Given the description of an element on the screen output the (x, y) to click on. 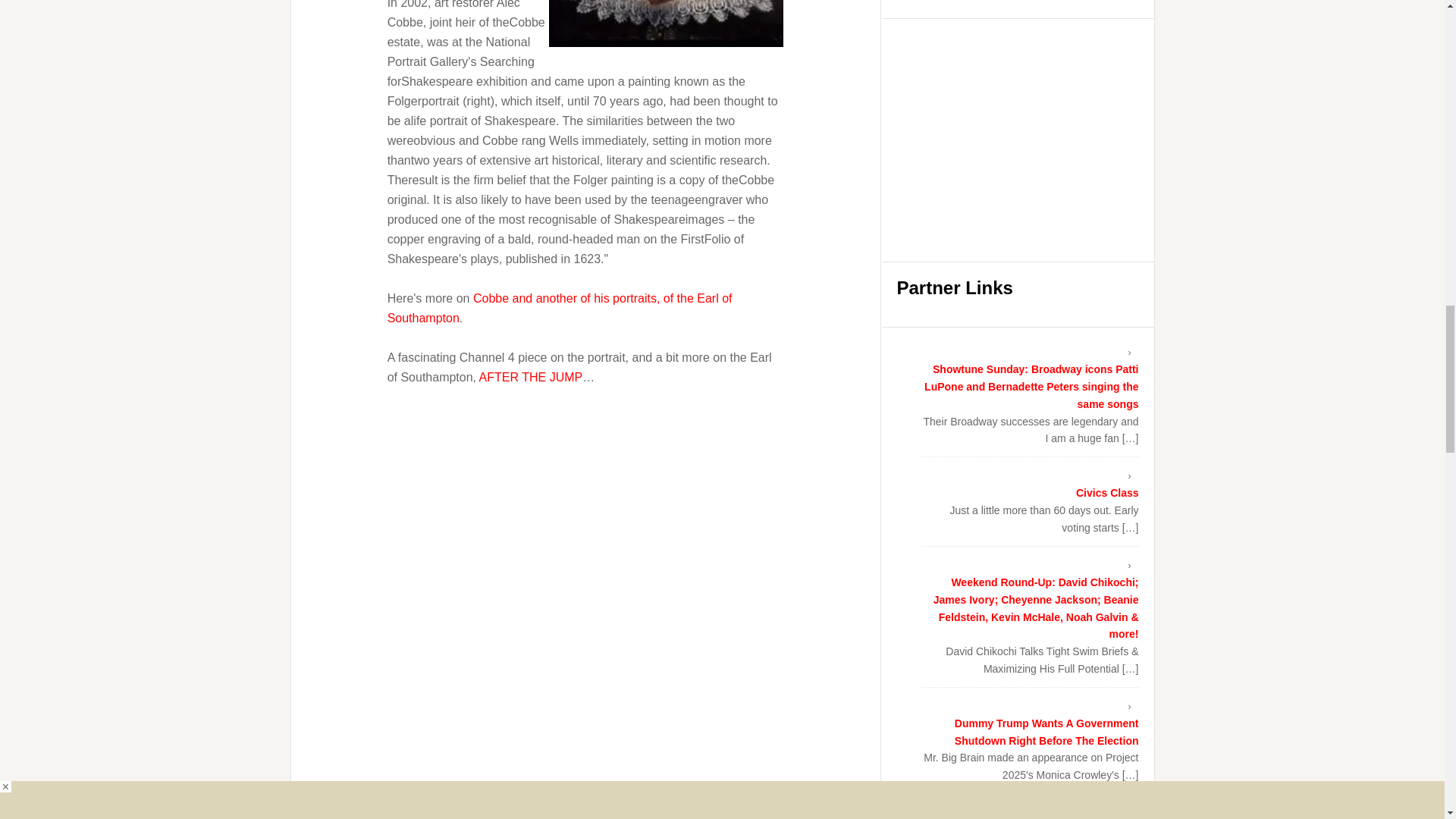
Folger (665, 22)
AFTER THE JUMP (531, 376)
